Given the description of an element on the screen output the (x, y) to click on. 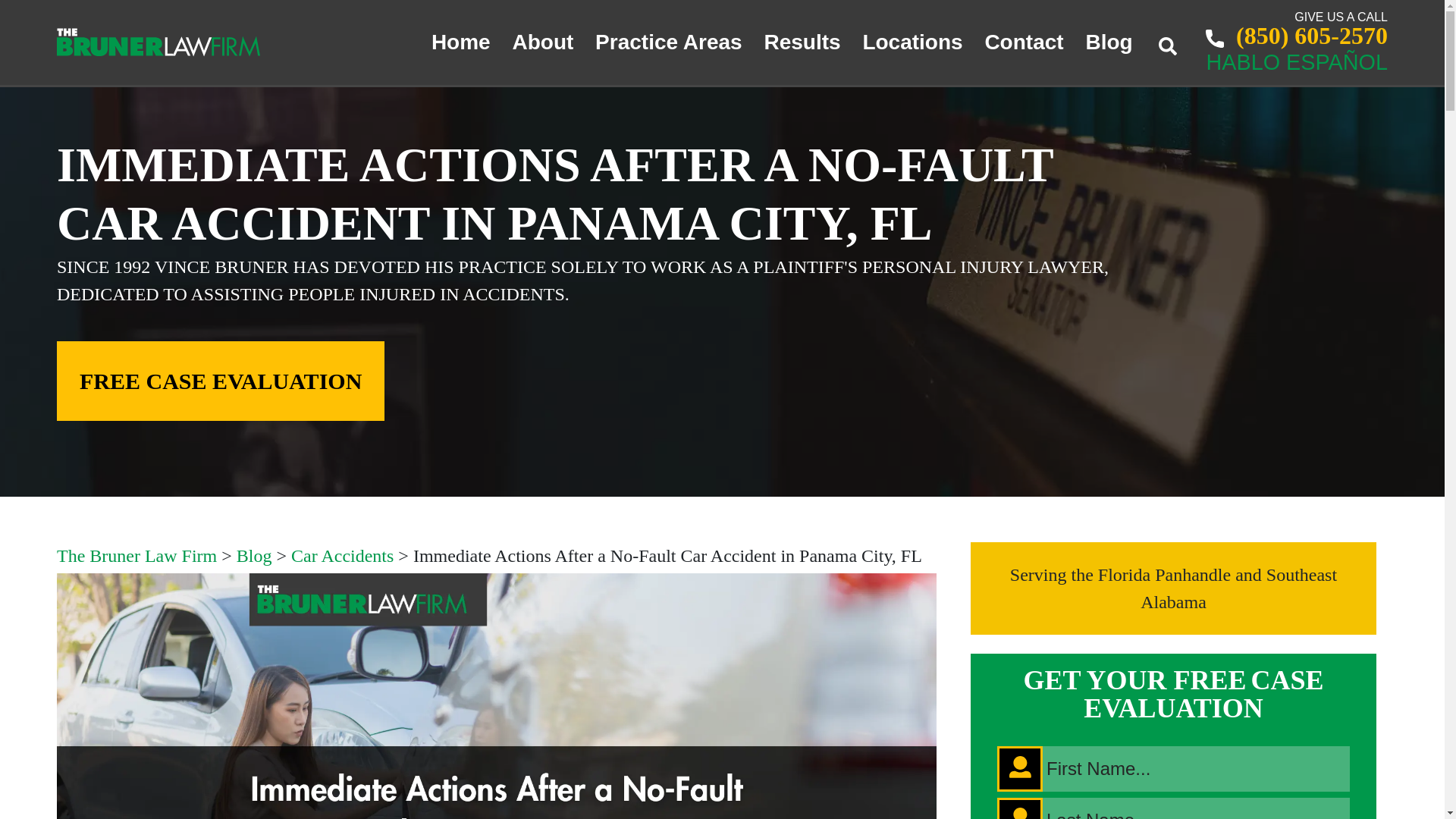
About (542, 42)
About (542, 42)
Home (460, 42)
Practice Areas (668, 42)
Home (460, 42)
Practice Areas (668, 42)
